Given the description of an element on the screen output the (x, y) to click on. 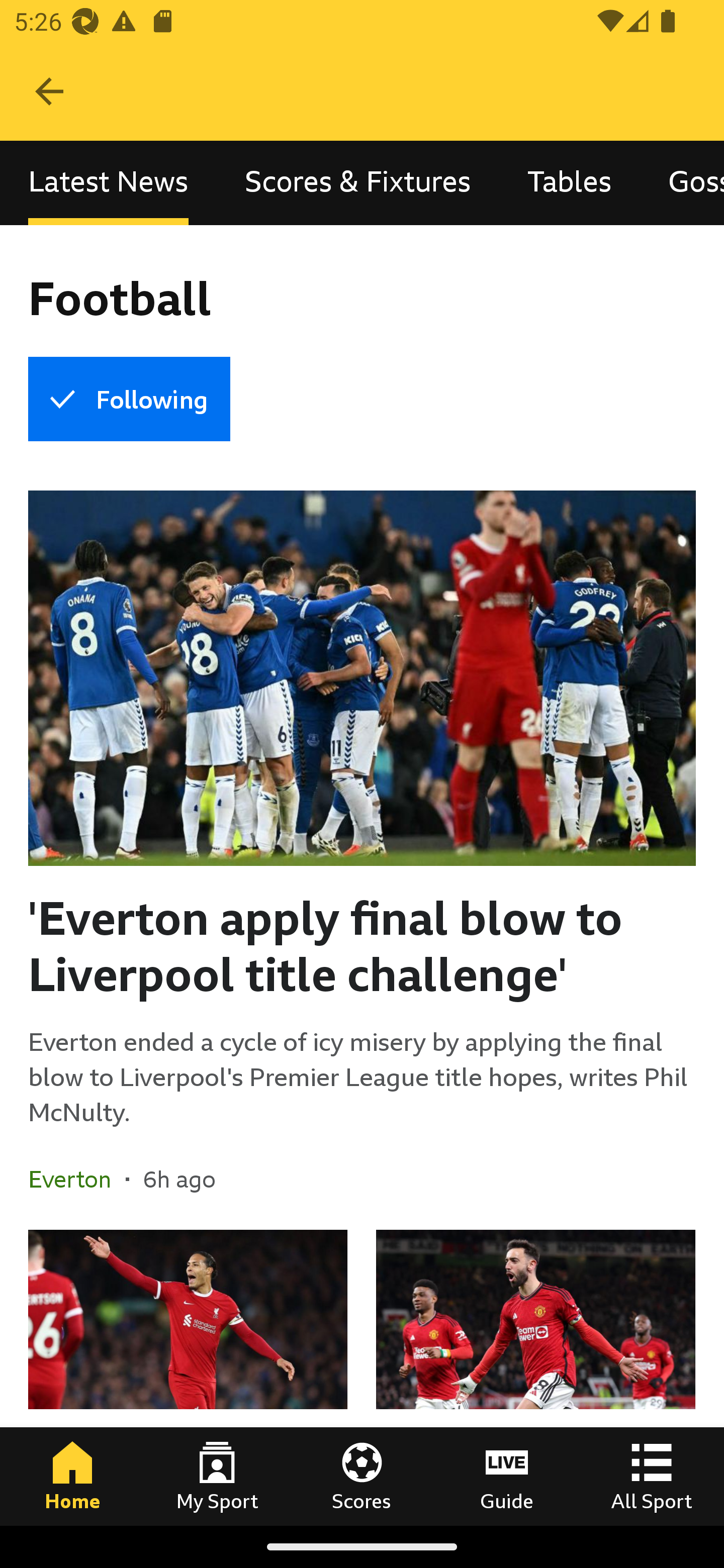
Navigate up (49, 91)
Latest News, selected Latest News (108, 183)
Scores & Fixtures (357, 183)
Tables (569, 183)
Following Football Following (129, 398)
Everton In the section Everton (76, 1178)
Van Dijk questions desire of team-mates after loss (188, 1377)
Man Utd fight back twice to beat Sheff Utd (535, 1377)
My Sport (216, 1475)
Scores (361, 1475)
Guide (506, 1475)
All Sport (651, 1475)
